Given the description of an element on the screen output the (x, y) to click on. 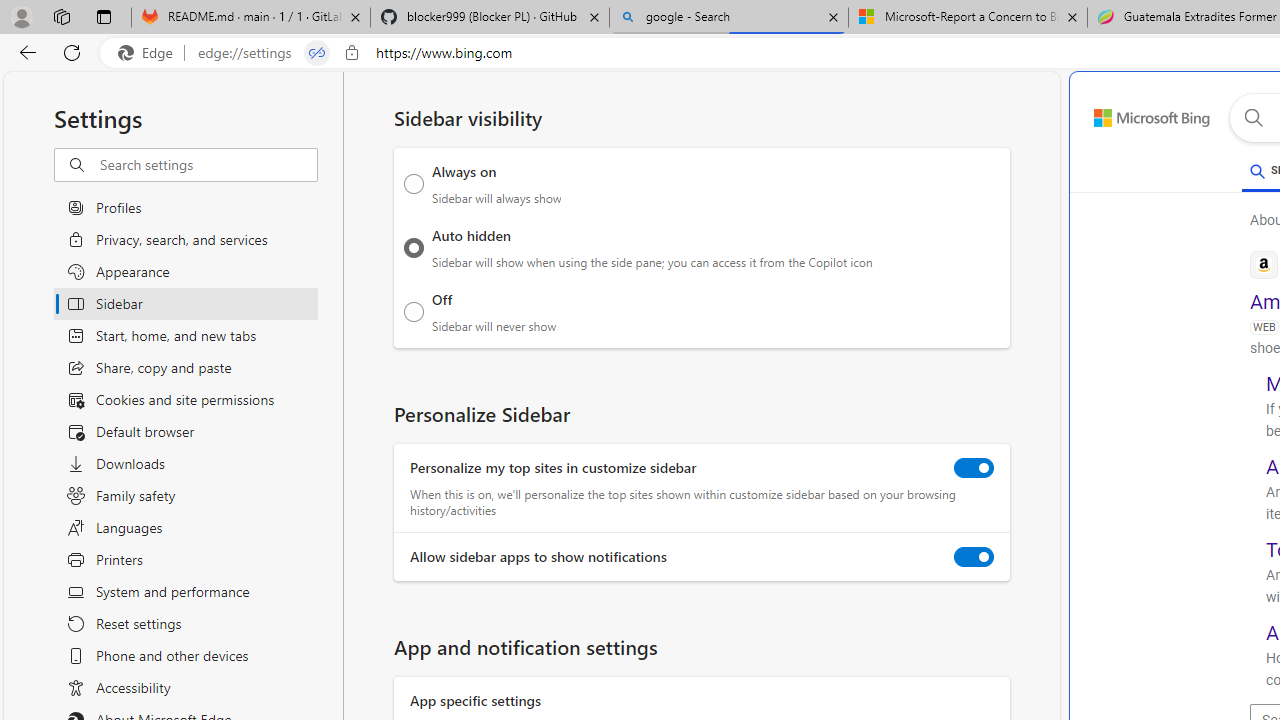
Search button (1253, 117)
Back to Bing search (1139, 113)
Off Sidebar will never show (413, 311)
Tabs in split screen (317, 53)
